Given the description of an element on the screen output the (x, y) to click on. 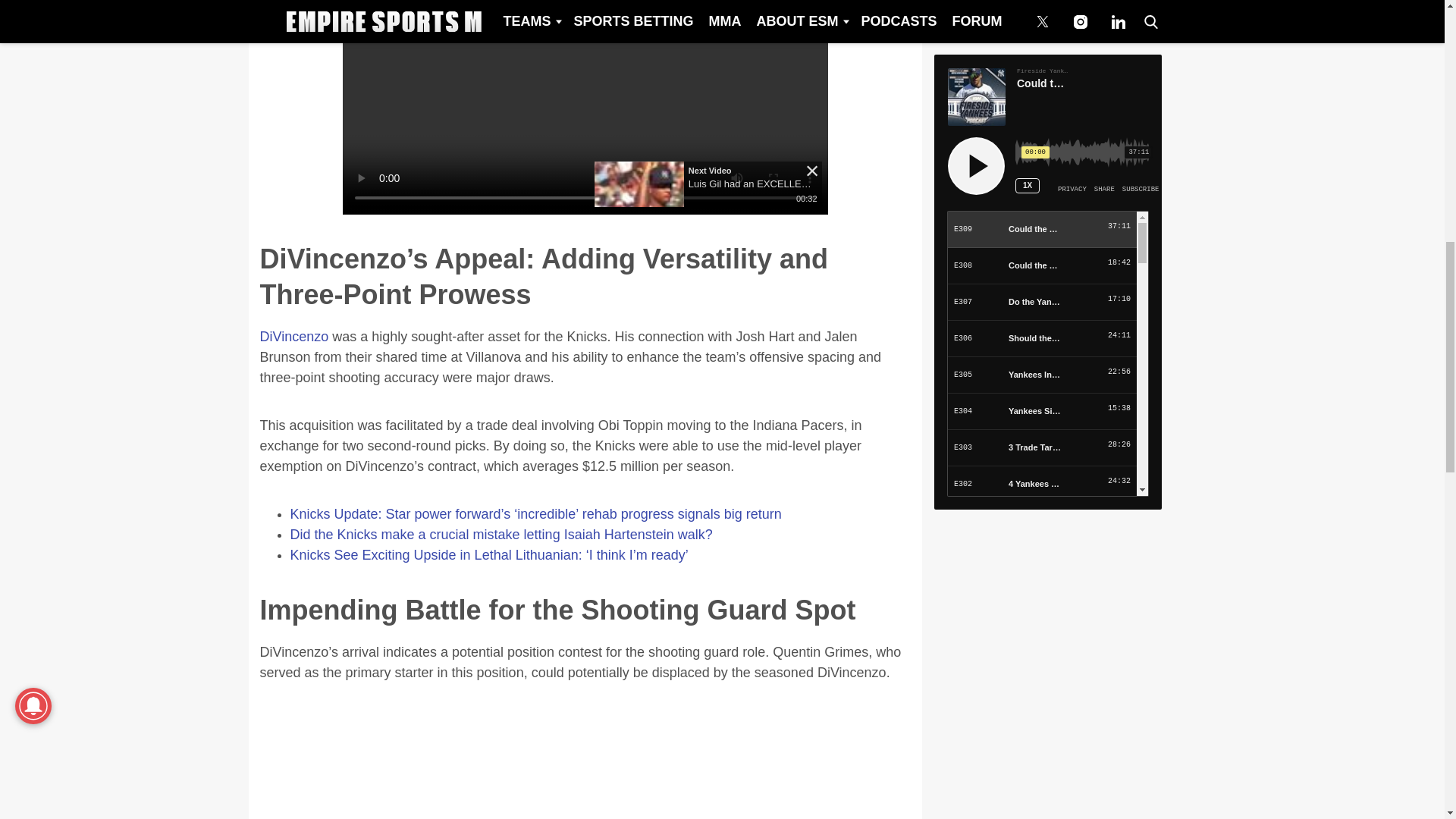
DiVincenzo (294, 336)
